Given the description of an element on the screen output the (x, y) to click on. 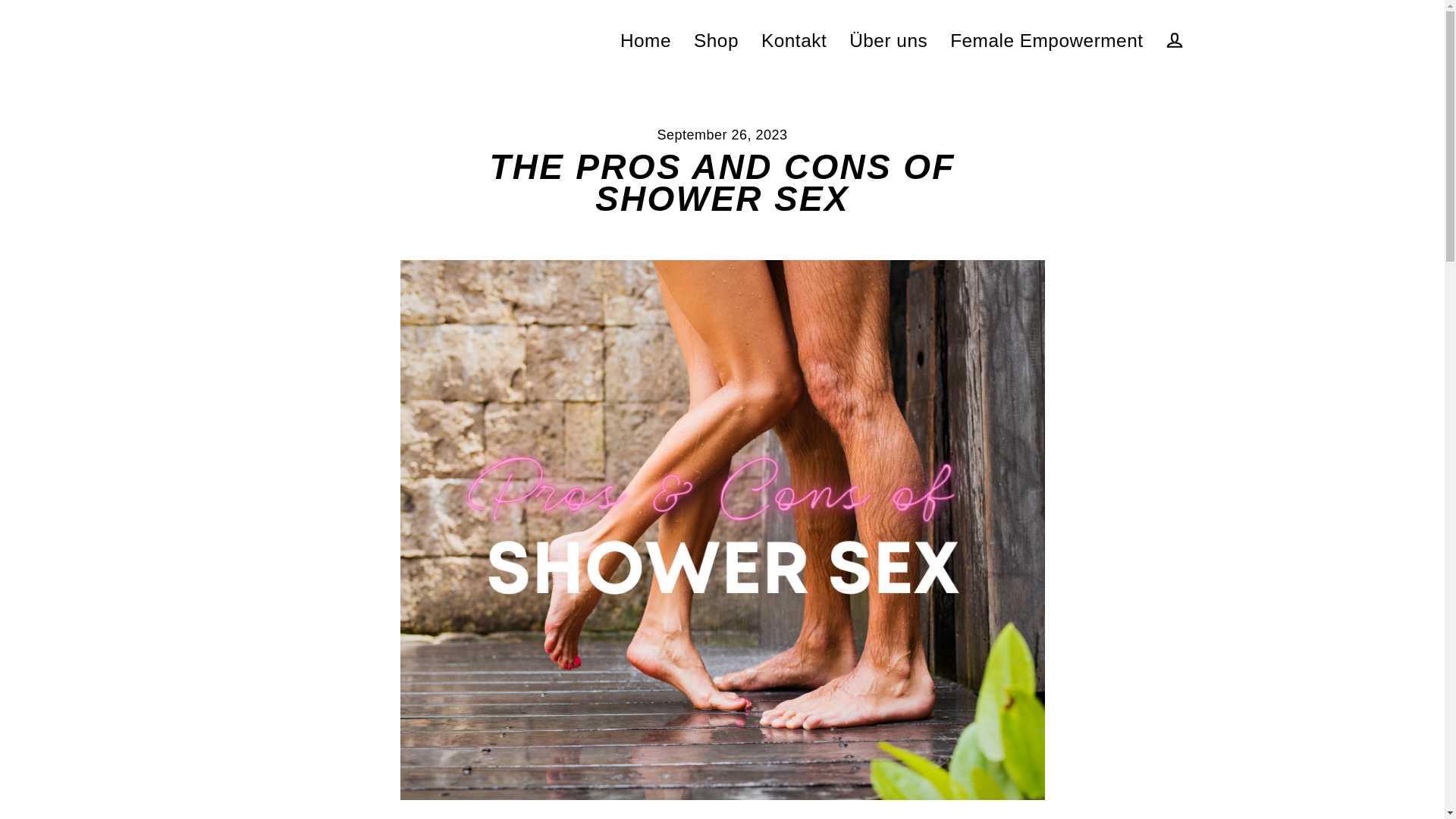
Female Empowerment (1046, 40)
Home (645, 40)
Shop (715, 40)
Einloggen (1173, 40)
Kontakt (793, 40)
